Given the description of an element on the screen output the (x, y) to click on. 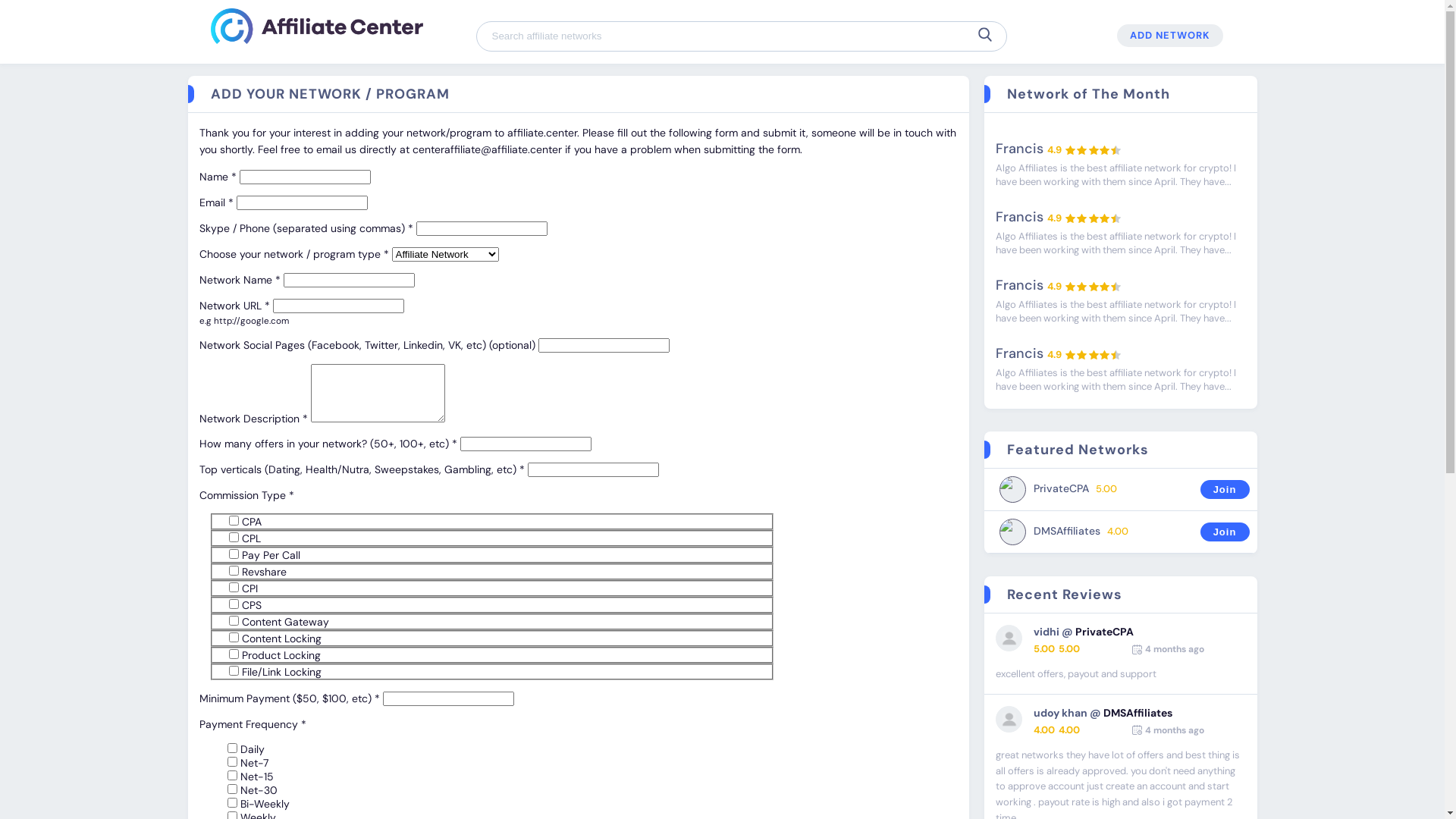
Join Element type: text (1223, 489)
Join Element type: text (1223, 531)
PrivateCPA Element type: text (1104, 631)
DMSAffiliates Element type: text (1136, 712)
ADD NETWORK Element type: text (1169, 35)
Join Element type: text (1224, 489)
Join Element type: text (1224, 531)
